Given the description of an element on the screen output the (x, y) to click on. 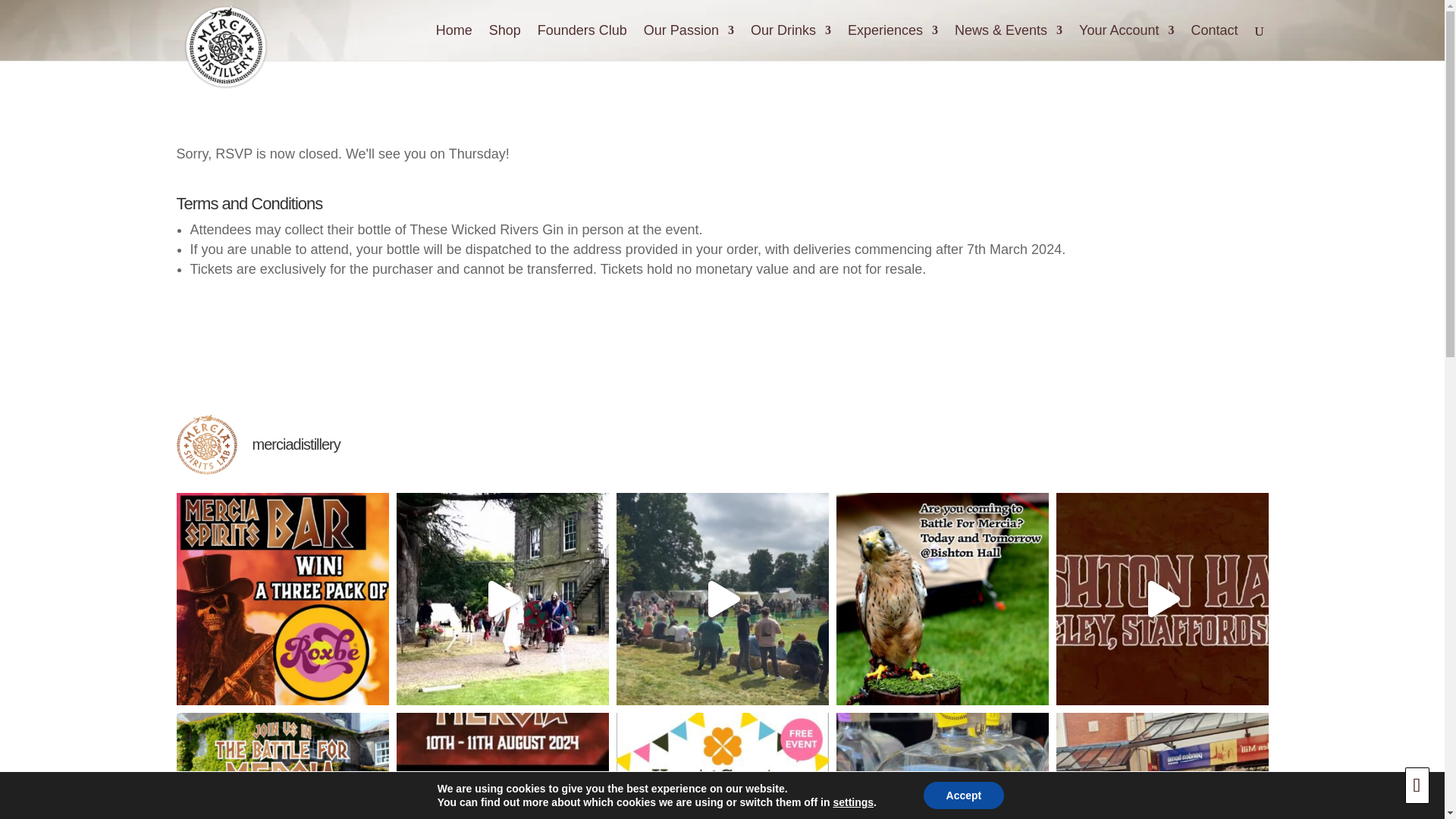
Our Passion (688, 42)
Our Drinks (791, 42)
Founders Club (582, 42)
Home (453, 42)
Shop (505, 42)
